Given the description of an element on the screen output the (x, y) to click on. 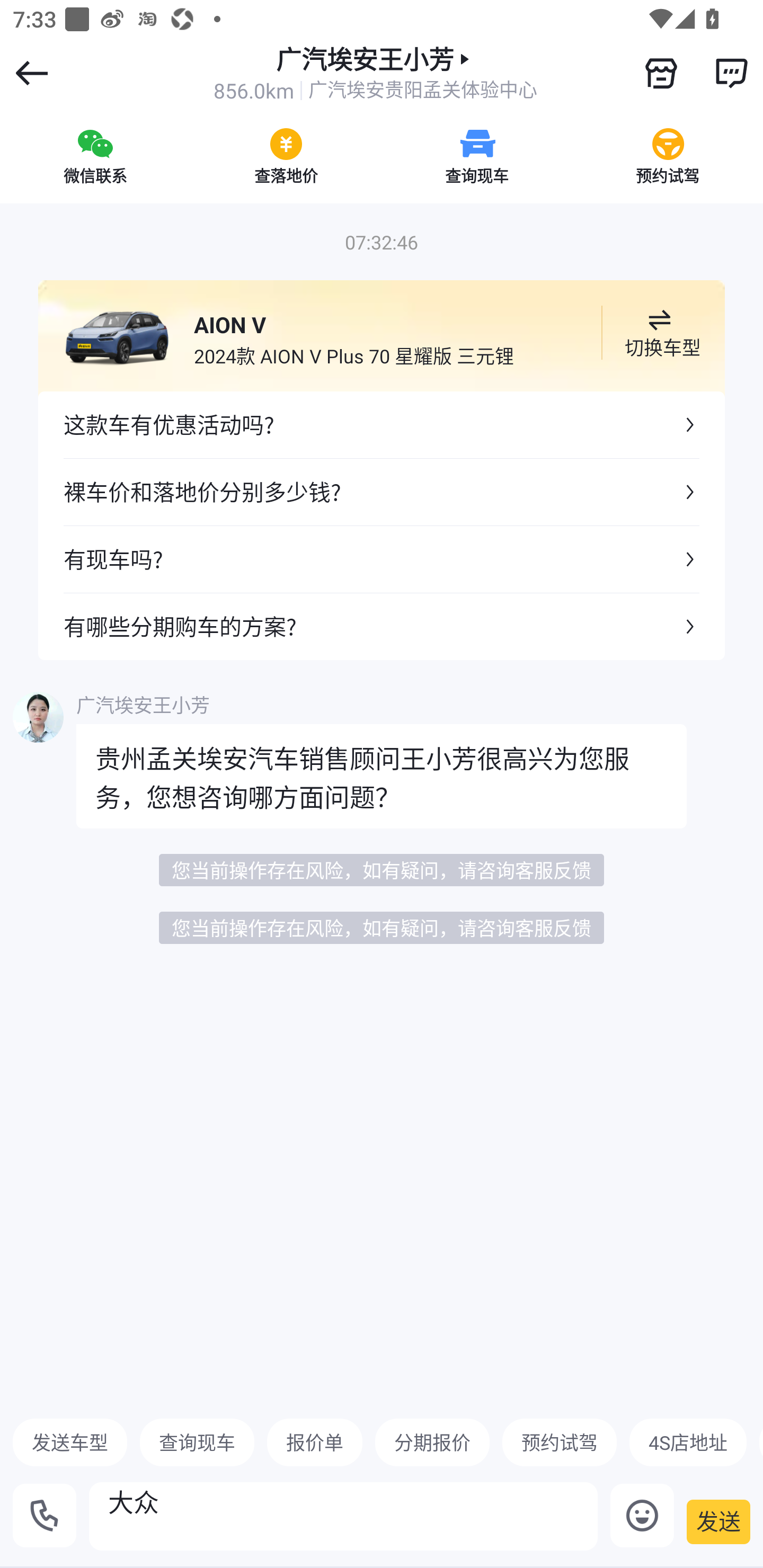
广汽埃安王小芳 856.0km 广汽埃安贵阳孟关体验中心 (374, 73)
 (730, 72)
 (661, 73)
微信联系 (95, 155)
查落地价 (285, 155)
查询现车 (476, 155)
预约试驾 (667, 155)
切换车型 (659, 332)
这款车有优惠活动吗? (381, 424)
裸车价和落地价分别多少钱? (381, 492)
有现车吗? (381, 558)
有哪些分期购车的方案? (381, 626)
贵州孟关埃安汽车销售顾问王小芳很高兴为您服务，您想咨询哪方面问题？ (381, 775)
发送车型 (69, 1442)
查询现车 (196, 1442)
报价单 (314, 1442)
分期报价 (432, 1442)
预约试驾 (559, 1442)
4S店地址 (687, 1442)
大众
 (343, 1515)
发送 (718, 1521)
